Given the description of an element on the screen output the (x, y) to click on. 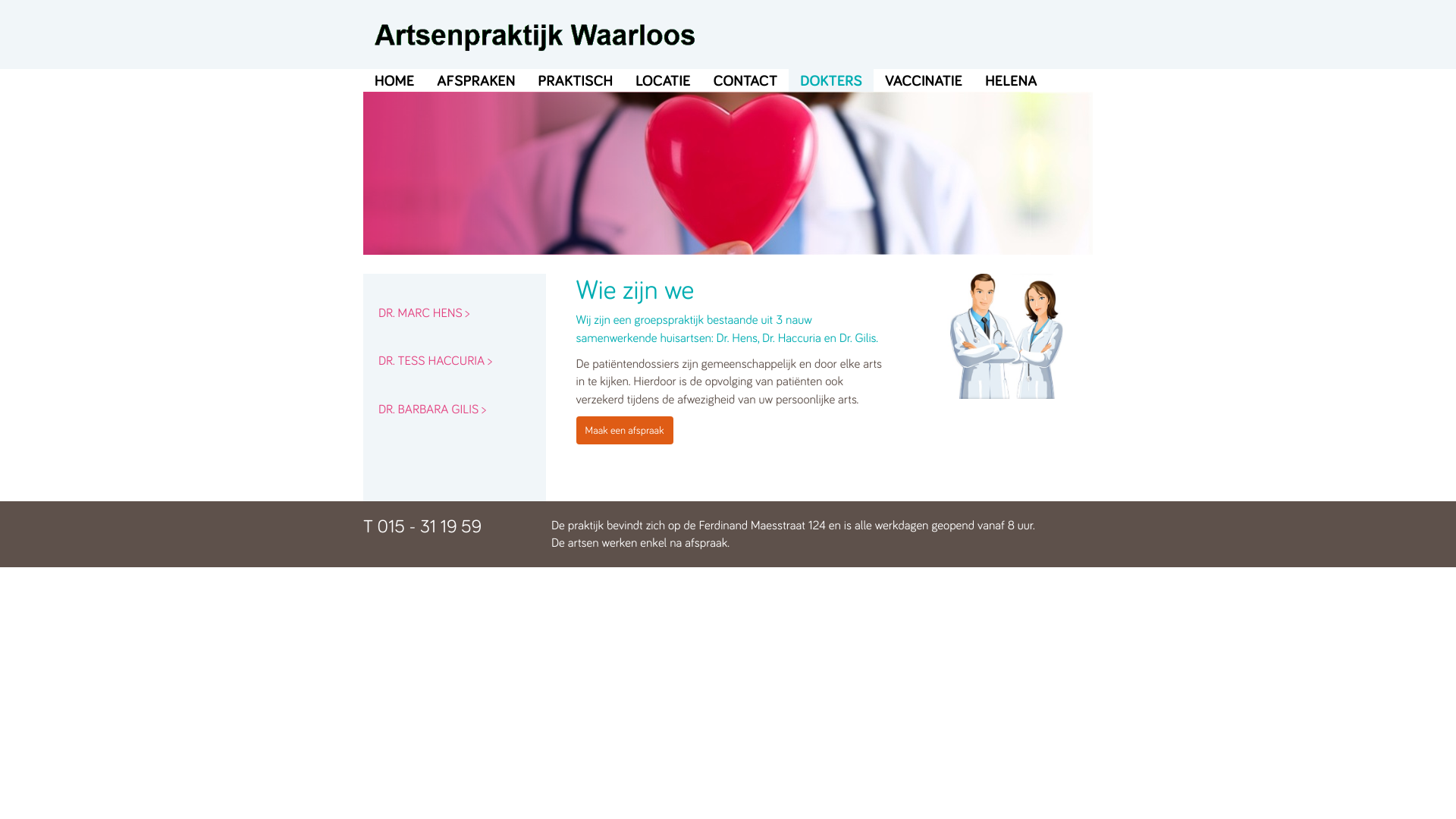
DR. MARC HENS Element type: text (454, 312)
VACCINATIE Element type: text (923, 80)
Maak een afspraak Element type: text (624, 430)
HOME Element type: text (394, 80)
AFSPRAKEN Element type: text (475, 80)
DOKTERS Element type: text (830, 80)
HELENA Element type: text (1010, 80)
LOCATIE Element type: text (662, 80)
DR. TESS HACCURIA Element type: text (454, 360)
PRAKTISCH Element type: text (575, 80)
DR. BARBARA GILIS Element type: text (454, 409)
CONTACT Element type: text (745, 80)
